Given the description of an element on the screen output the (x, y) to click on. 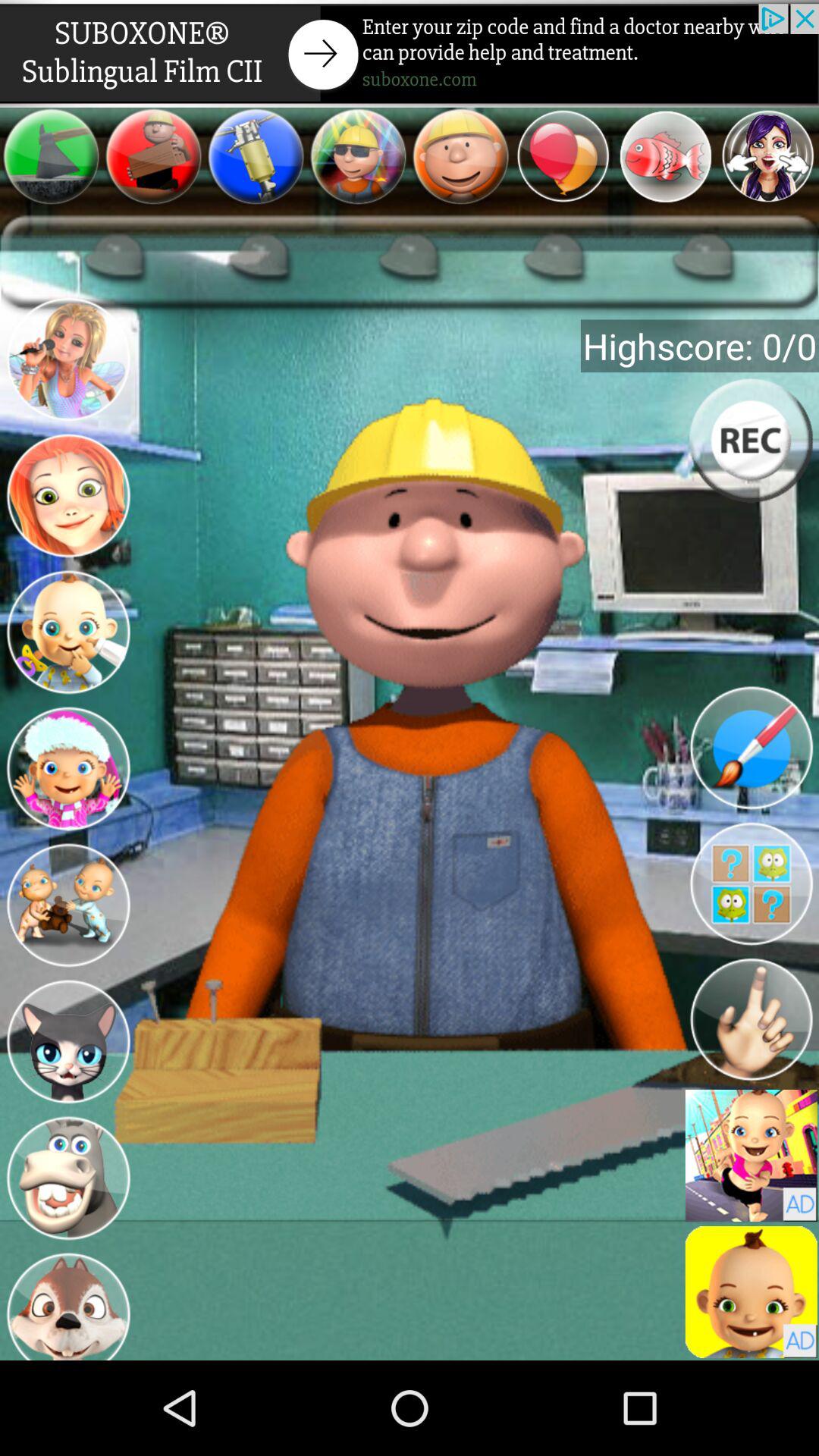
go to picture (68, 905)
